Given the description of an element on the screen output the (x, y) to click on. 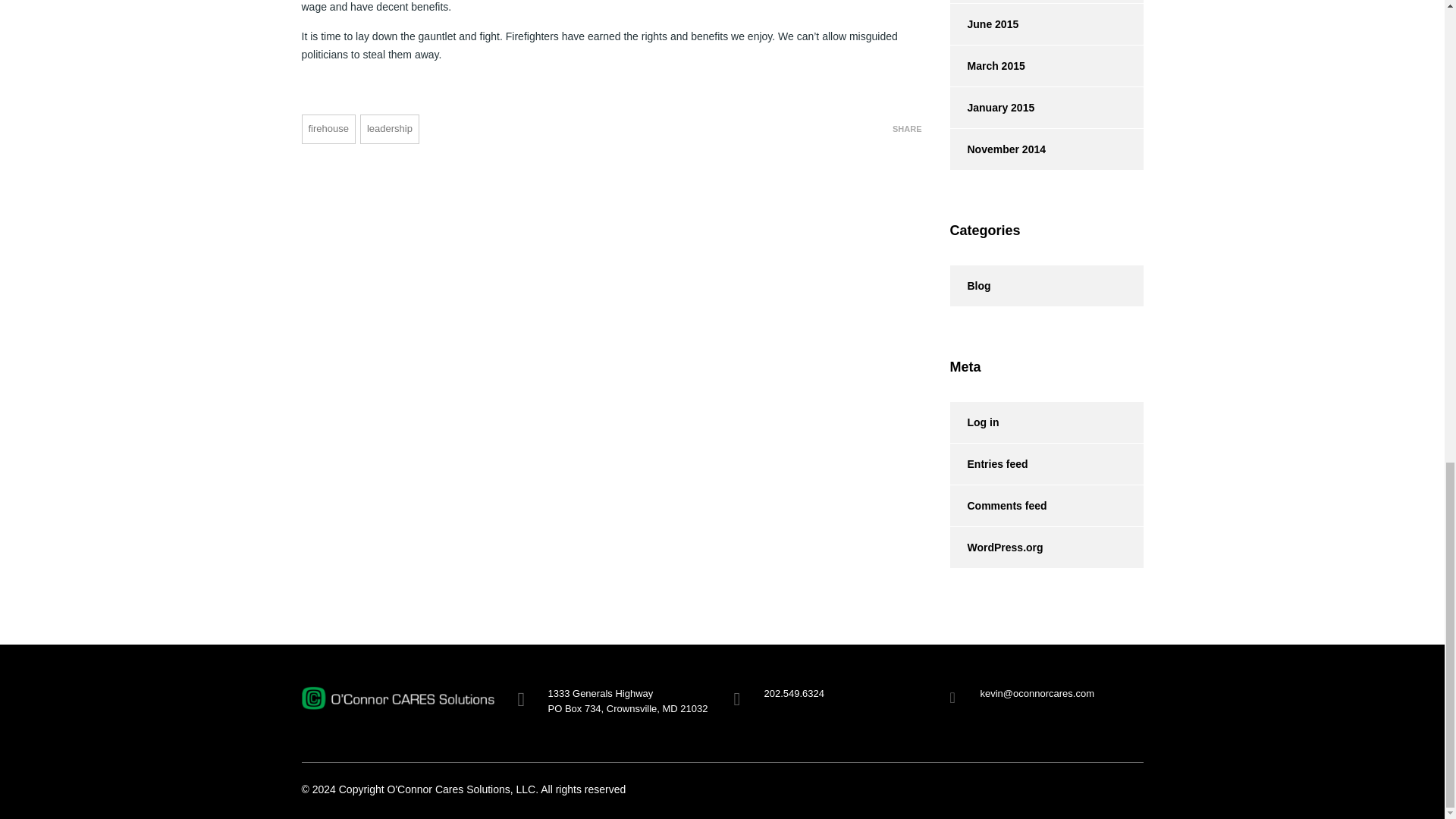
August 2015 (989, 1)
firehouse (328, 129)
leadership (389, 129)
June 2015 (983, 24)
